Given the description of an element on the screen output the (x, y) to click on. 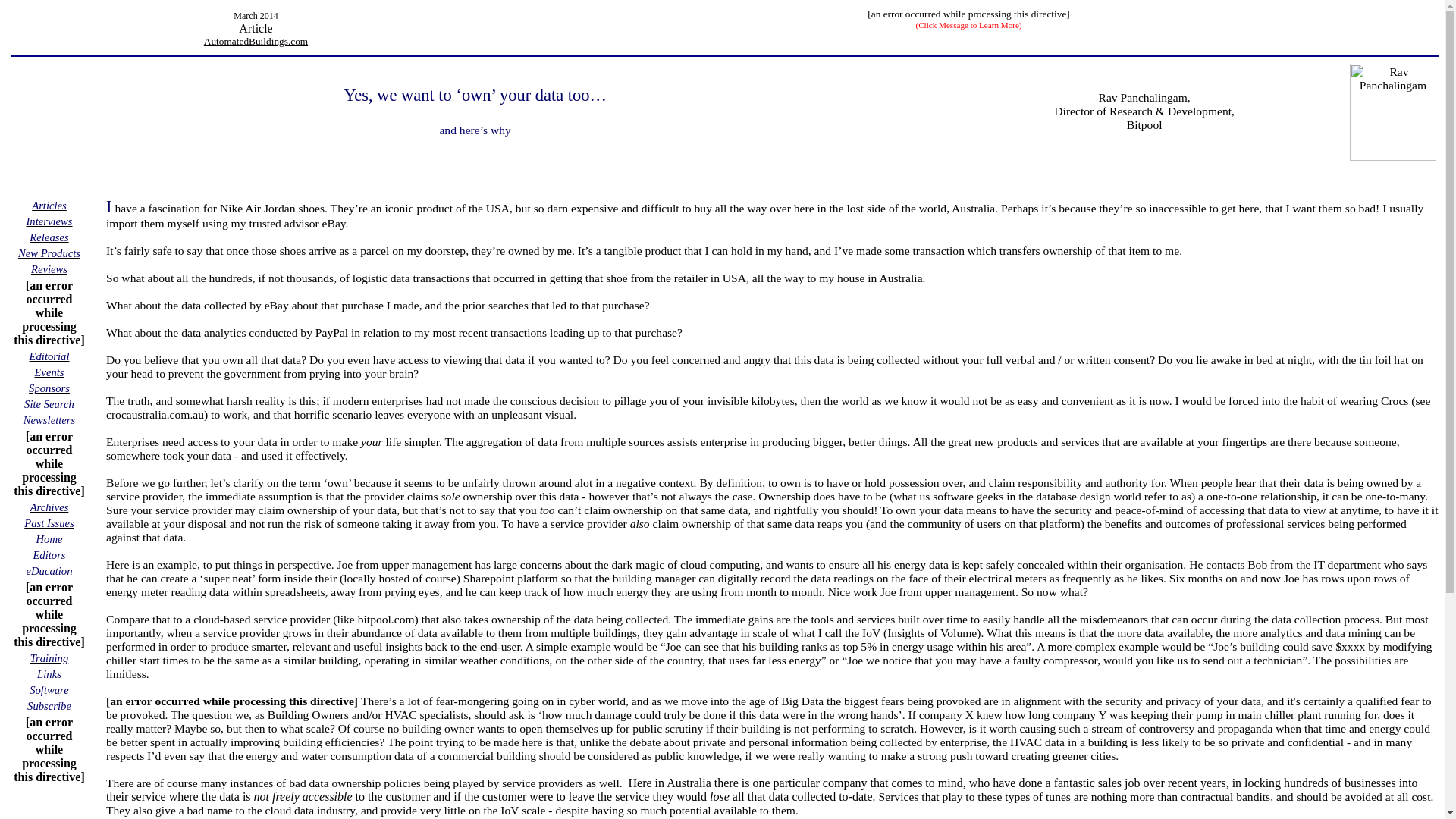
Archives (49, 506)
Reviews (48, 268)
Training (49, 657)
Past Issues (49, 522)
Events (48, 371)
New Products (48, 252)
Editors (48, 554)
Site Search (49, 403)
AutomatedBuildings.com (255, 41)
Editorial (49, 355)
eDucation (48, 570)
Interviews (48, 220)
Releases (48, 236)
Sponsors (49, 387)
Home (48, 538)
